Given the description of an element on the screen output the (x, y) to click on. 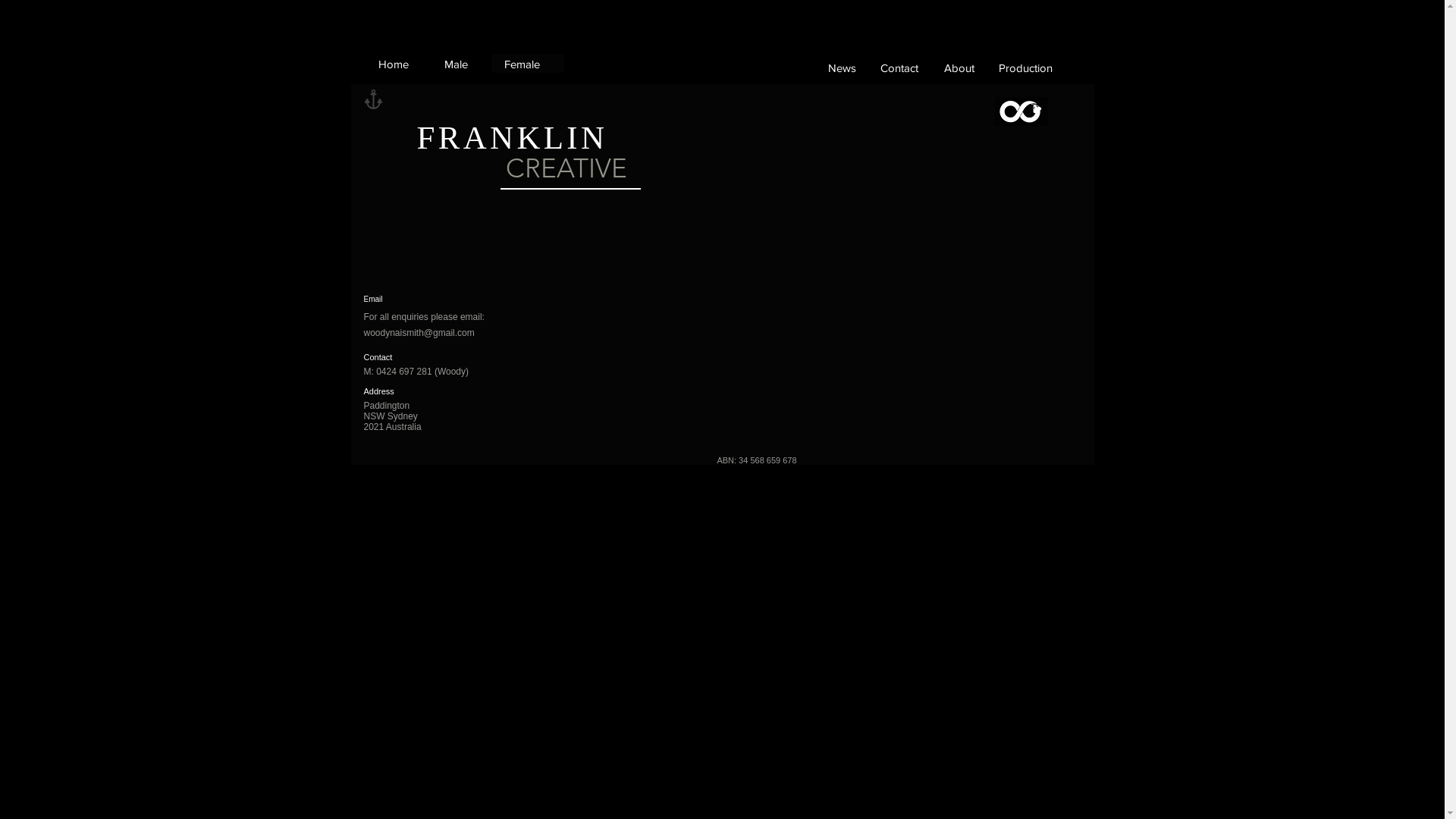
About Element type: text (958, 67)
Contact Element type: text (899, 67)
Male Element type: text (456, 63)
Home Element type: text (392, 63)
Female Element type: text (521, 63)
News Element type: text (842, 67)
Production Element type: text (1024, 67)
woodynaismith@gmail.com Element type: text (419, 332)
